Given the description of an element on the screen output the (x, y) to click on. 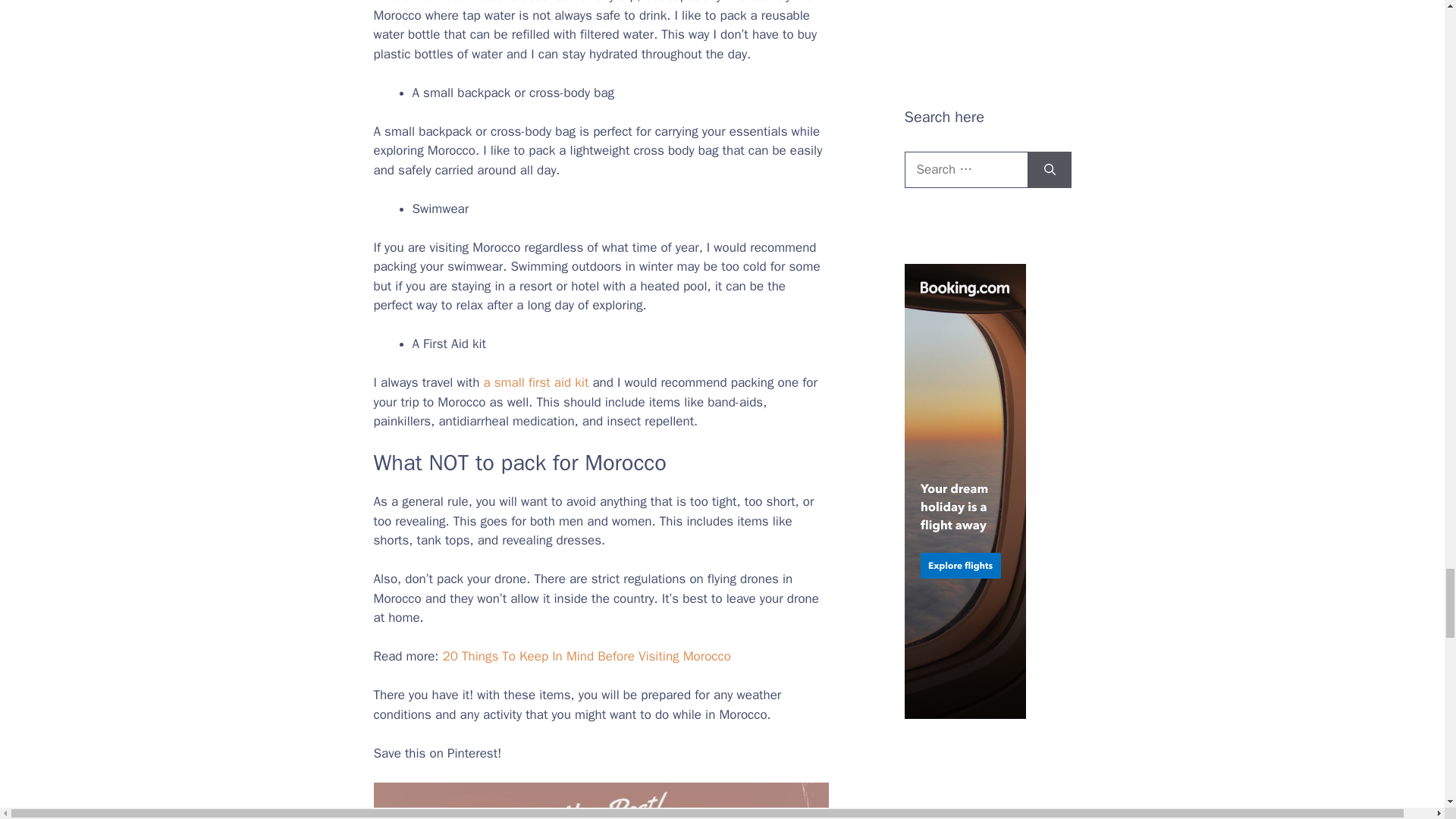
A reusable water bottle (437, 2)
a small first aid kit (535, 382)
20 Things To Keep In Mind Before Visiting Morocco (586, 656)
